Given the description of an element on the screen output the (x, y) to click on. 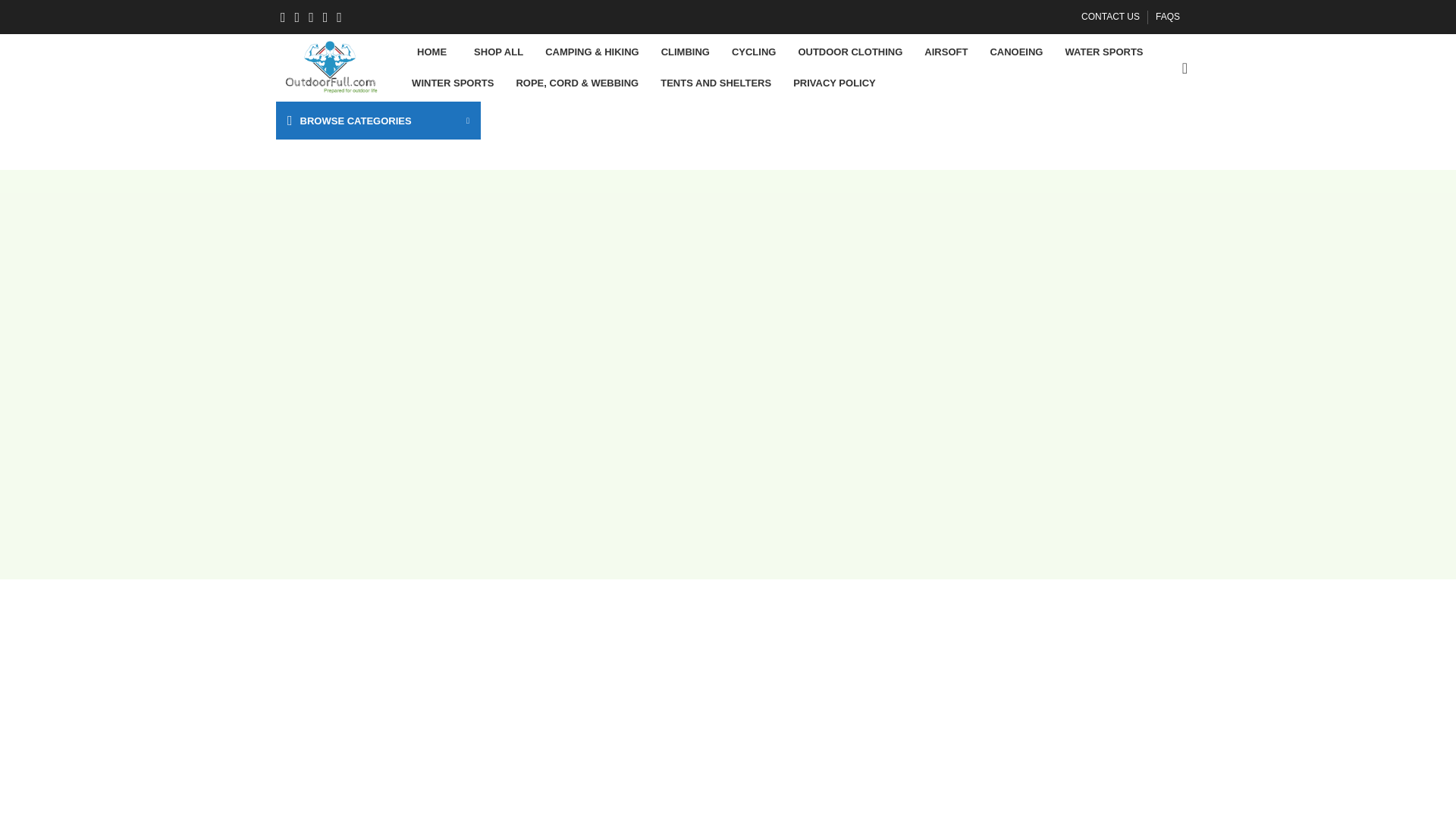
CANOEING (1015, 51)
TENTS AND SHELTERS (715, 82)
CLIMBING (685, 51)
WINTER SPORTS (452, 82)
WATER SPORTS (1103, 51)
CONTACT US (1110, 16)
SHOP ALL (496, 51)
CYCLING (754, 51)
PRIVACY POLICY (834, 82)
AIRSOFT (945, 51)
OUTDOOR CLOTHING (850, 51)
HOME (429, 51)
